Given the description of an element on the screen output the (x, y) to click on. 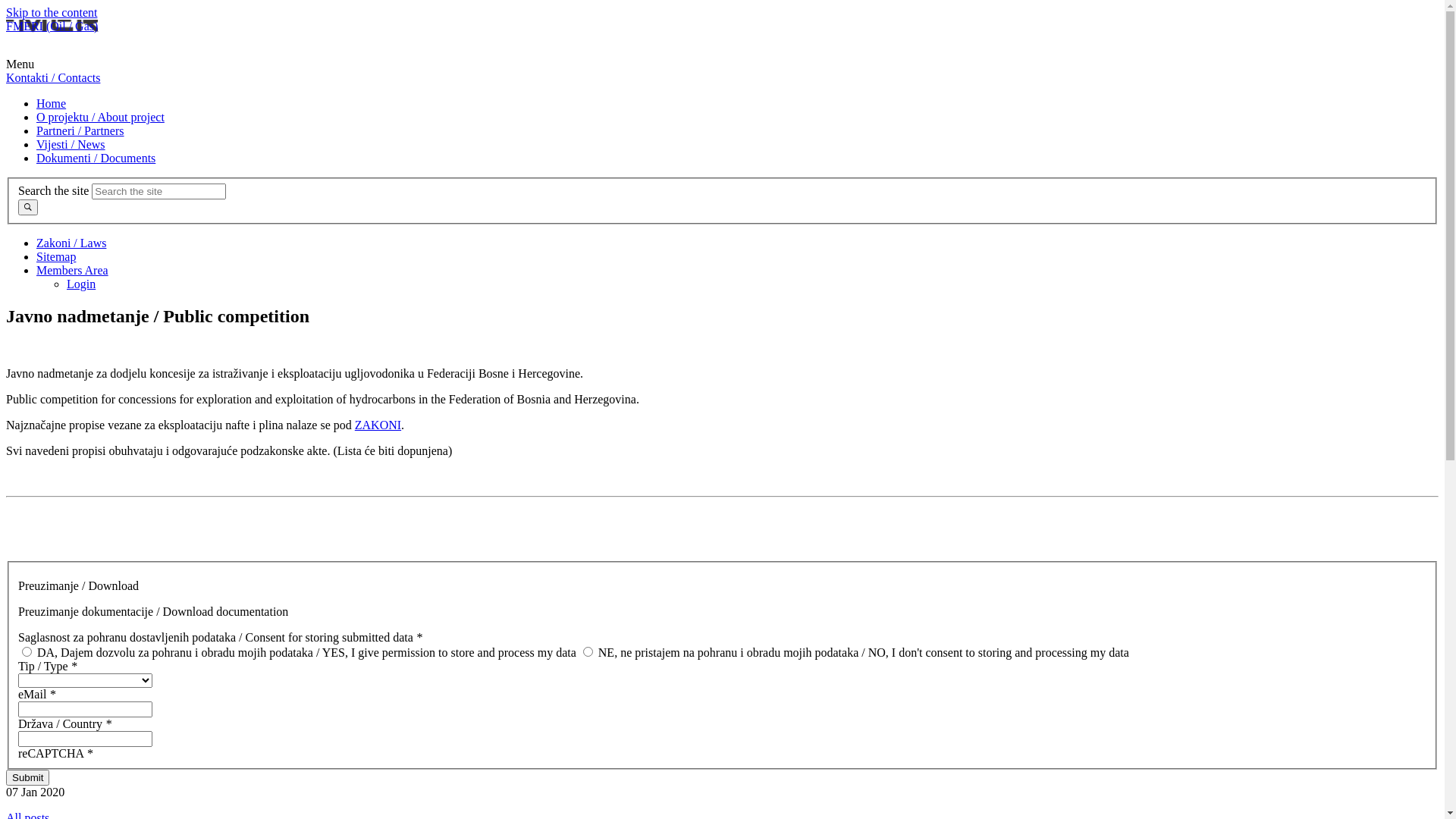
O projektu / About project Element type: text (100, 116)
Sitemap Element type: text (55, 256)
Partneri / Partners Element type: text (80, 130)
Kontakti / Contacts Element type: text (53, 77)
Zakoni / Laws Element type: text (71, 242)
ZAKONI Element type: text (377, 424)
Login Element type: text (80, 283)
Home Element type: text (50, 103)
Submit Element type: text (27, 777)
FMERI (Oil / Gas) Element type: text (51, 25)
Members Area Element type: text (72, 269)
Menu Element type: text (20, 63)
Skip to the content Element type: text (51, 12)
Vijesti / News Element type: text (70, 144)
Dokumenti / Documents Element type: text (95, 157)
